Given the description of an element on the screen output the (x, y) to click on. 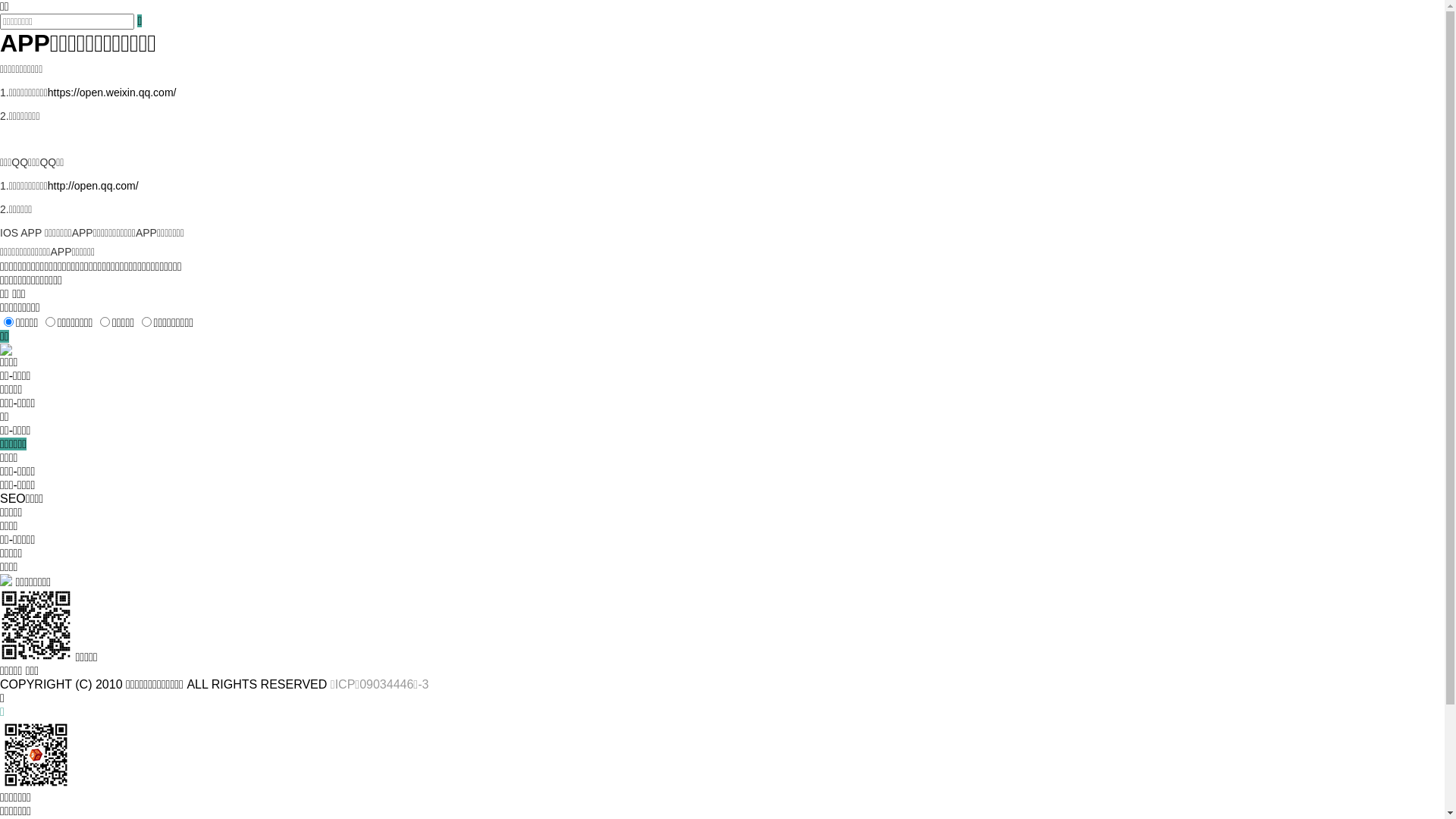
https://open.weixin.qq.com/ Element type: text (111, 92)
http://open.qq.com/ Element type: text (92, 185)
